Given the description of an element on the screen output the (x, y) to click on. 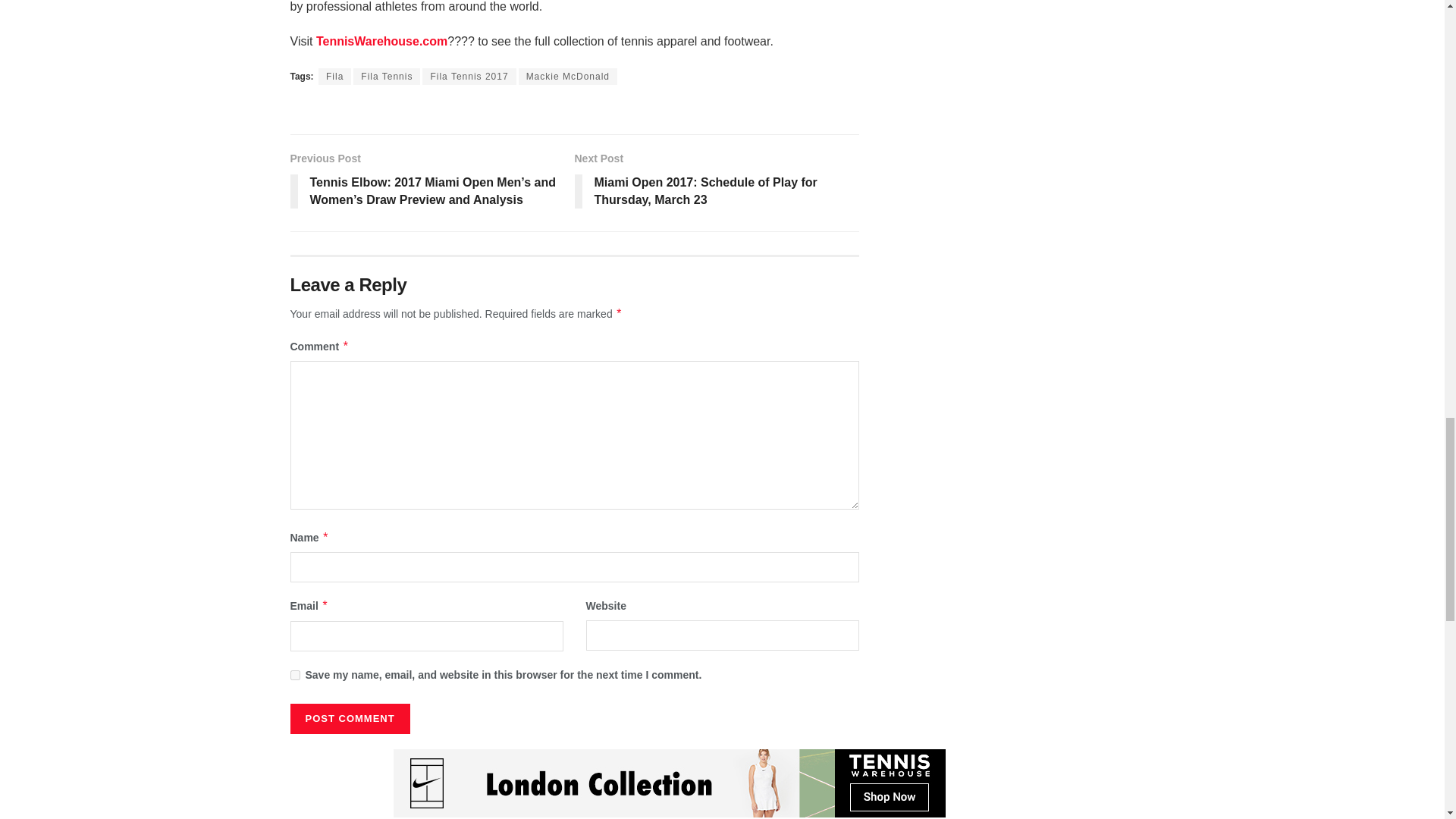
yes (294, 675)
Post Comment (349, 718)
